Given the description of an element on the screen output the (x, y) to click on. 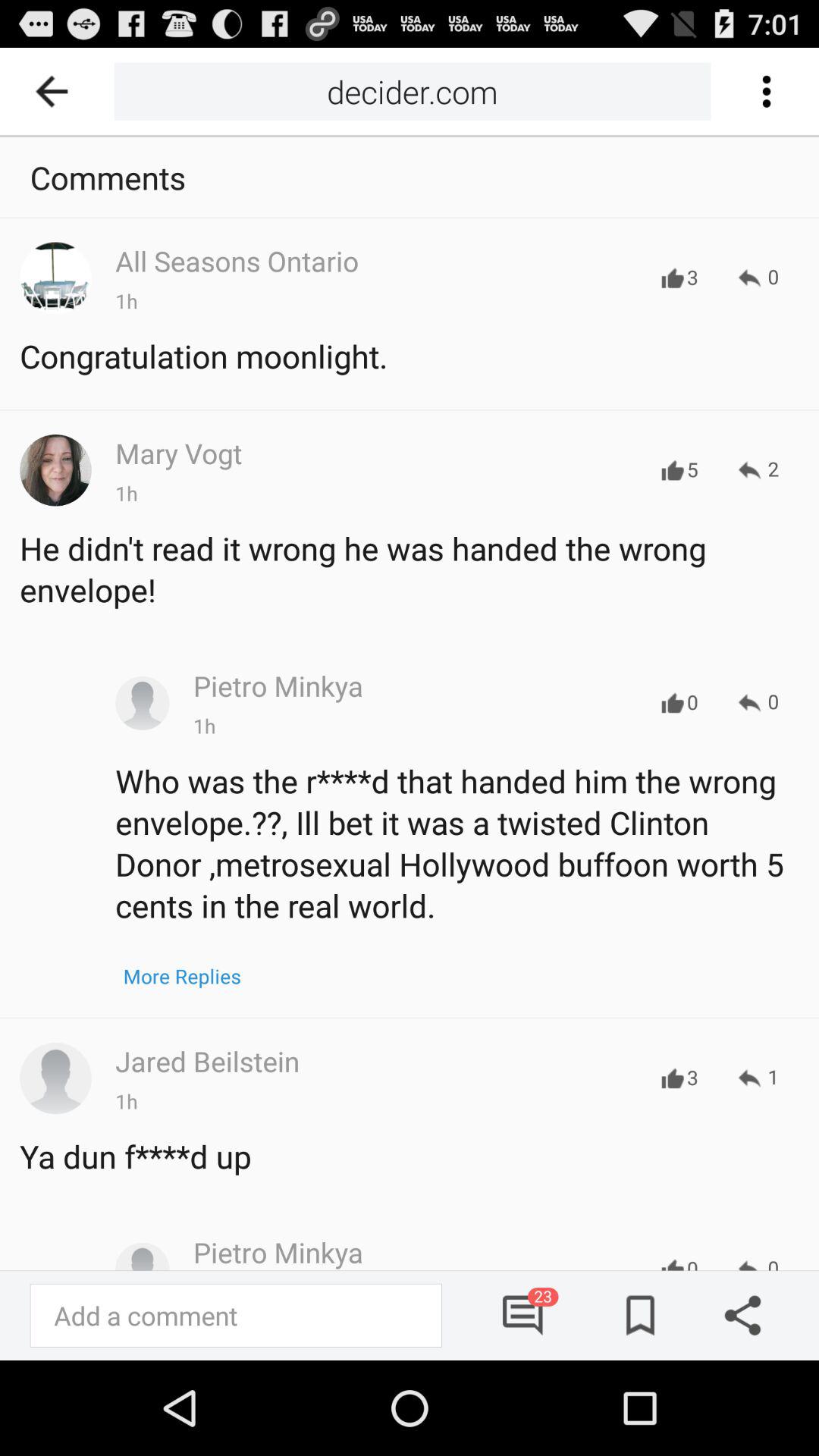
saved news button (635, 1315)
